Given the description of an element on the screen output the (x, y) to click on. 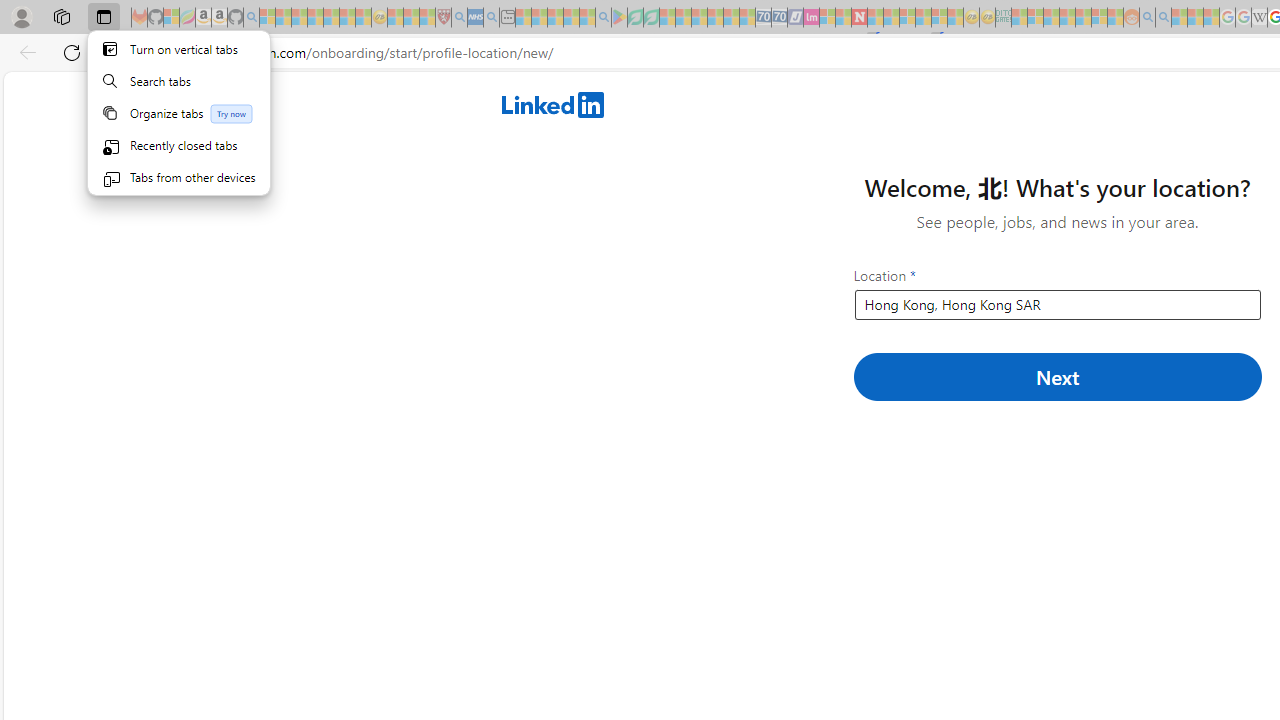
Pets - MSN - Sleeping (571, 17)
Tab Actions (178, 124)
Local - MSN - Sleeping (427, 17)
MSNBC - MSN - Sleeping (1019, 17)
Latest Politics News & Archive | Newsweek.com - Sleeping (859, 17)
Expert Portfolios - Sleeping (1067, 17)
